Given the description of an element on the screen output the (x, y) to click on. 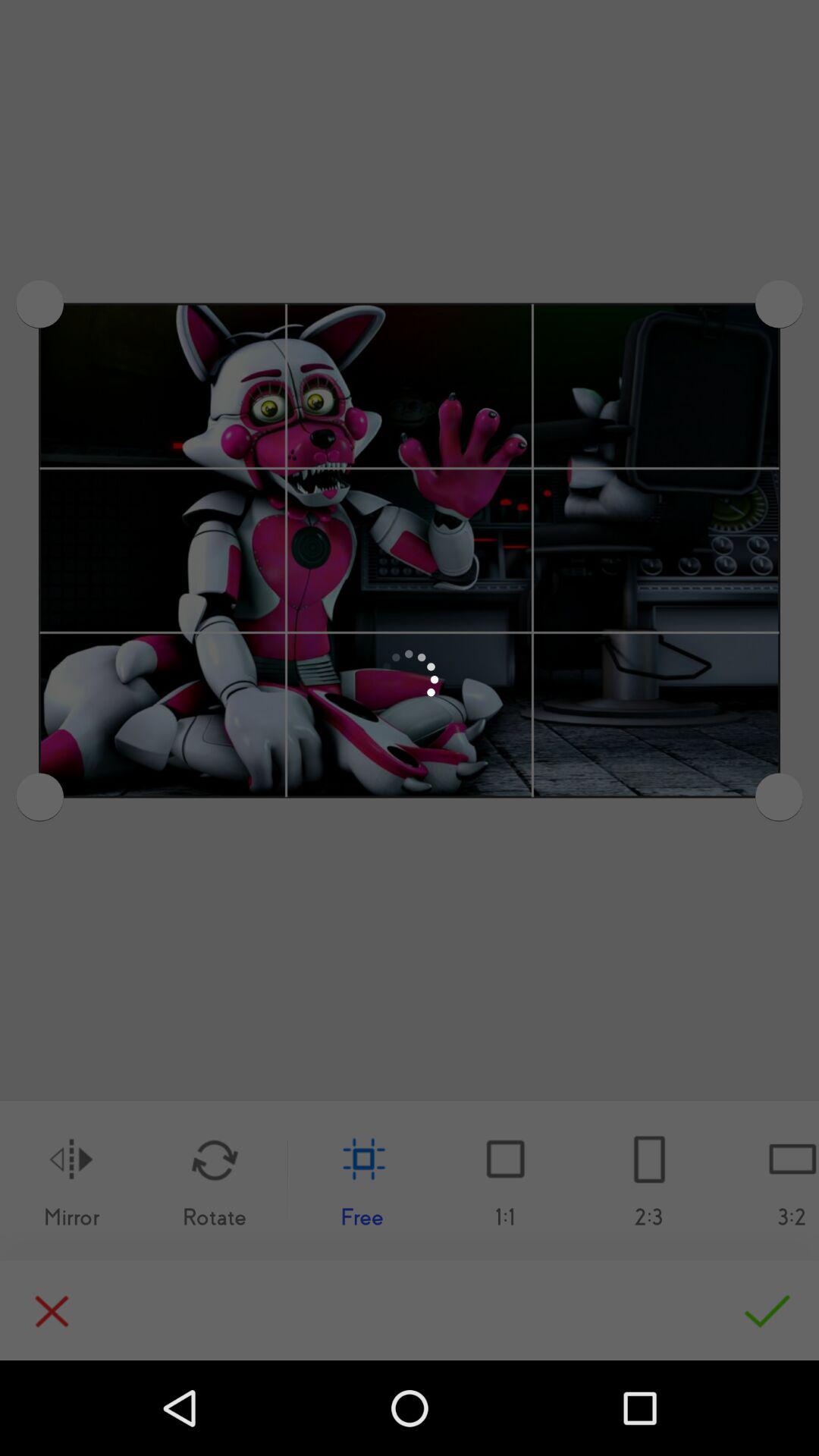
click on the tick icon which is at the bottom (760, 1309)
